Given the description of an element on the screen output the (x, y) to click on. 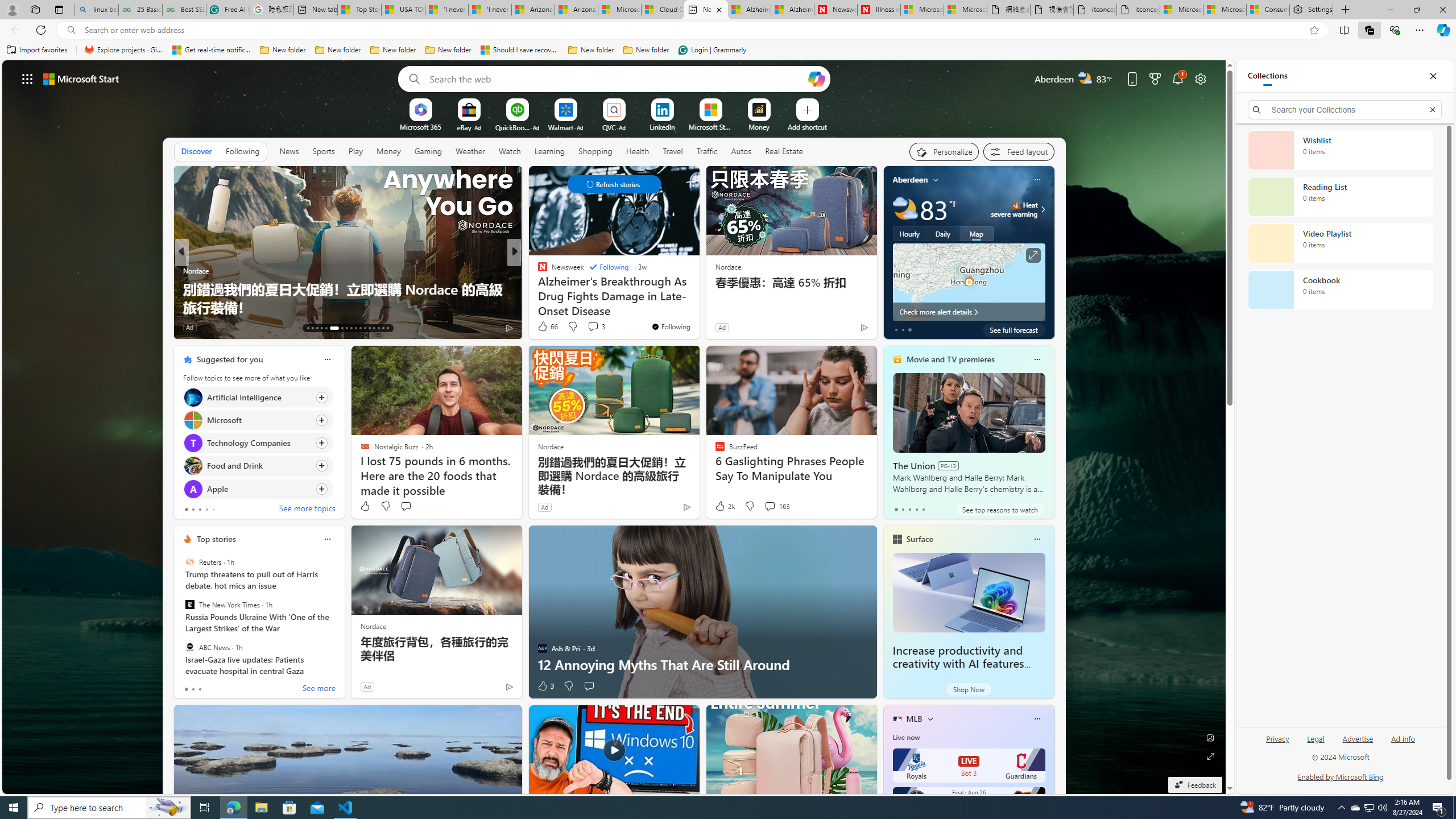
AutomationID: tab-24 (364, 328)
Traffic (706, 151)
Play (354, 151)
itconcepthk.com/projector_solutions.mp4 (1138, 9)
Wishlist collection, 0 items (1339, 150)
Class: icon-img (1037, 718)
Newsweek - News, Analysis, Politics, Business, Technology (835, 9)
Real Estate (783, 151)
AutomationID: tab-19 (339, 328)
AutomationID: tab-18 (330, 328)
